Given the description of an element on the screen output the (x, y) to click on. 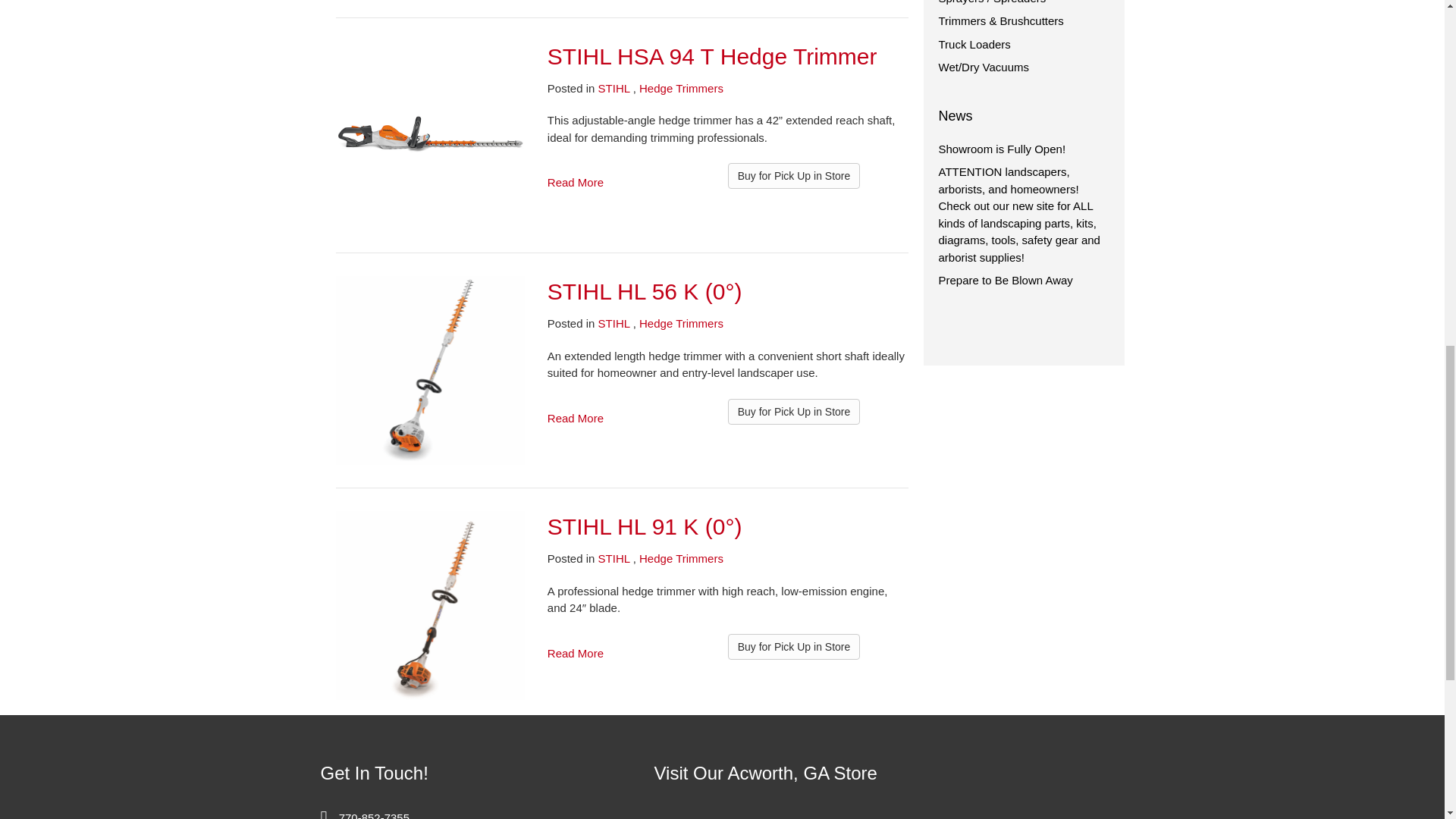
STIHL HSA 94 T Hedge Trimmer (712, 56)
Read More (575, 418)
STIHL HSA 94 T Hedge Trimmer (429, 133)
Read More (575, 182)
